Given the description of an element on the screen output the (x, y) to click on. 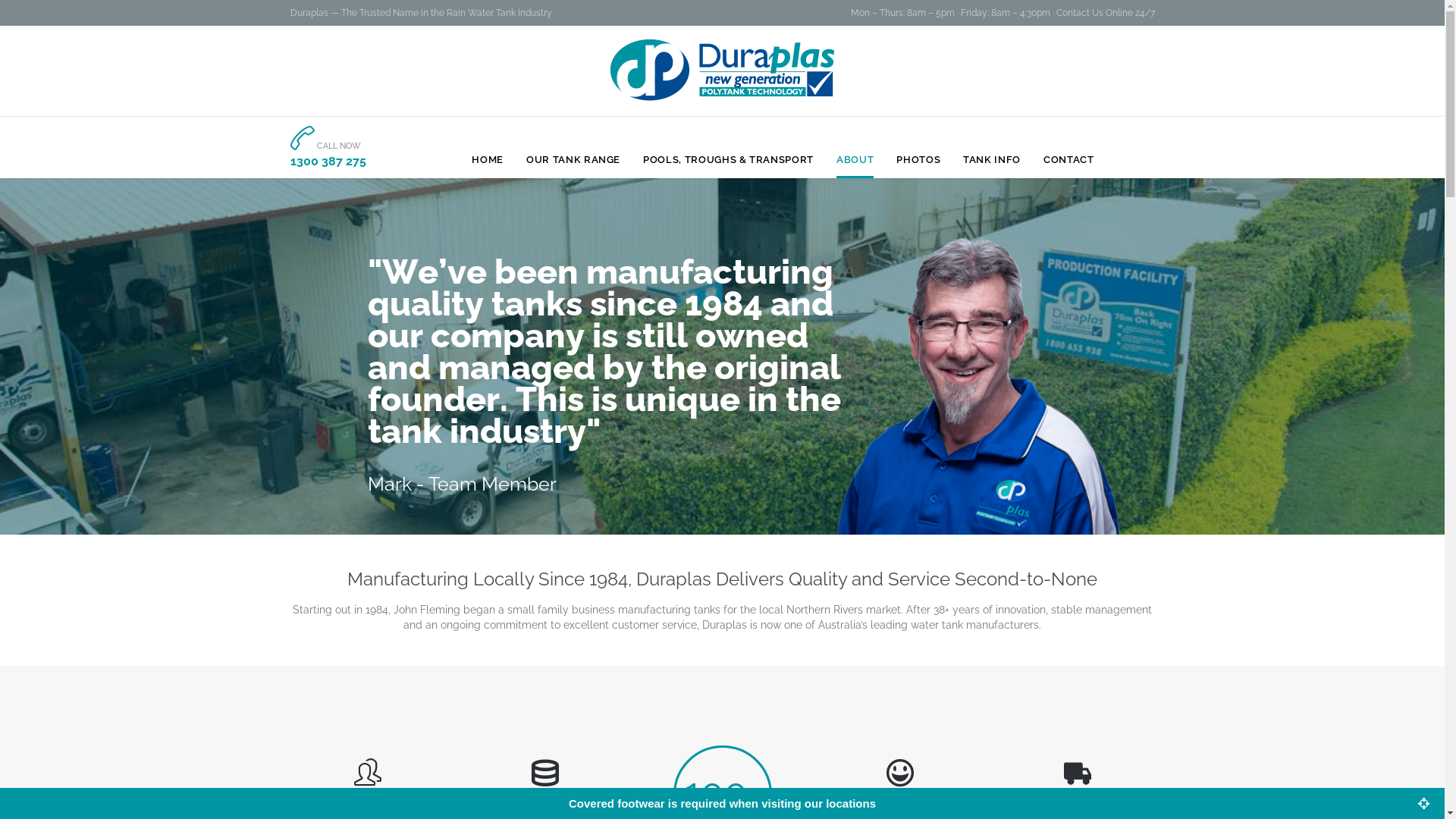
ABOUT Element type: text (854, 161)
PHOTOS Element type: text (918, 161)
OUR TANK RANGE Element type: text (573, 161)
CONTACT Element type: text (1068, 161)
POOLS, TROUGHS & TRANSPORT Element type: text (728, 161)
Skip to content Element type: text (782, 141)
TANK INFO Element type: text (991, 161)
HOME Element type: text (487, 161)
1300 387 275 Element type: text (327, 160)
Duraplas Element type: hover (722, 69)
